Given the description of an element on the screen output the (x, y) to click on. 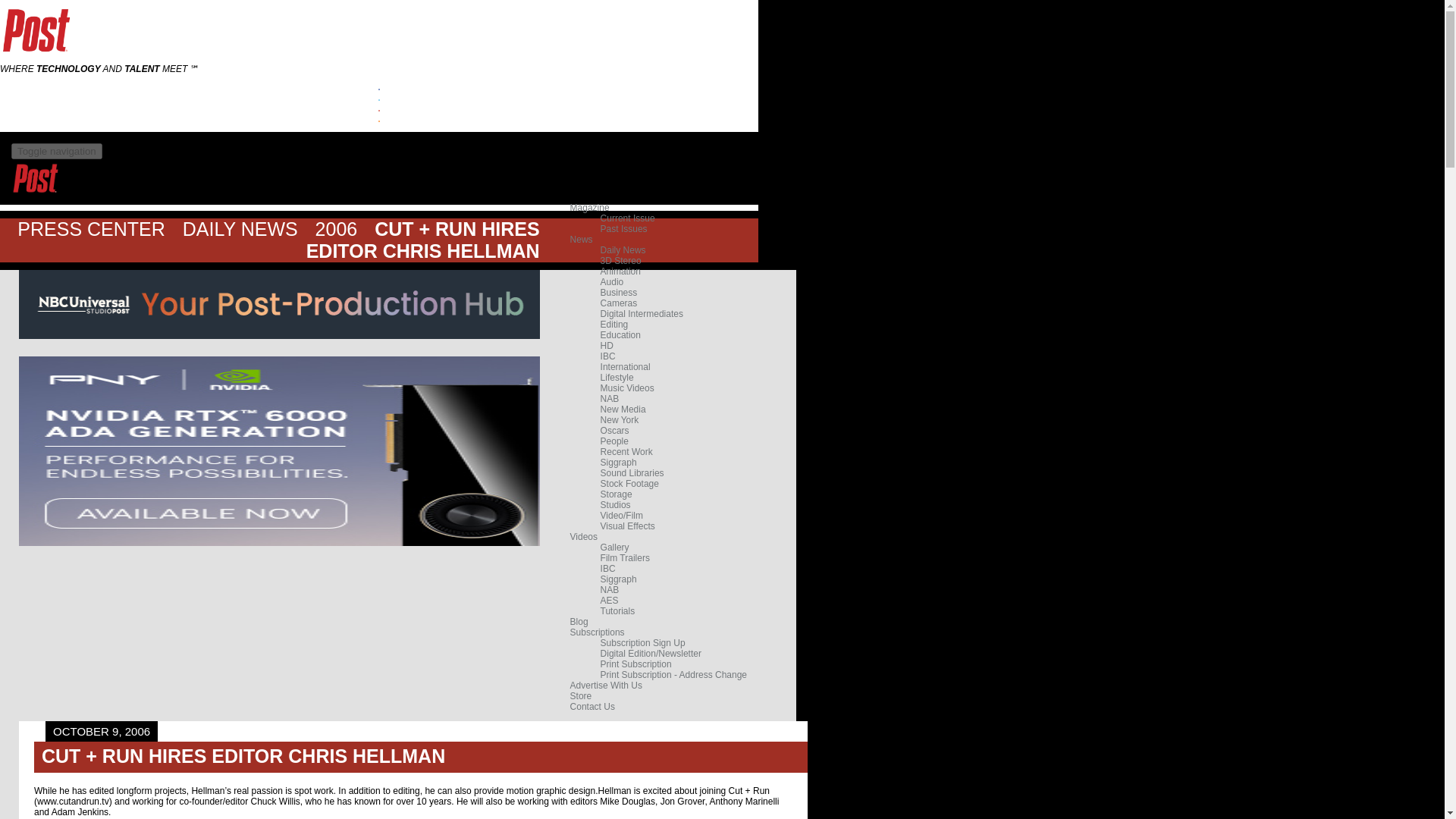
Lifestyle (616, 377)
Magazine (590, 207)
Music Videos (626, 388)
Audio (611, 281)
Sound Libraries (631, 472)
Toggle navigation (56, 150)
Studios (614, 504)
IBC (607, 356)
People (613, 440)
Editing (613, 324)
International (624, 366)
Animation (619, 271)
Siggraph (618, 462)
Stock Footage (629, 483)
3D Stereo (620, 260)
